Given the description of an element on the screen output the (x, y) to click on. 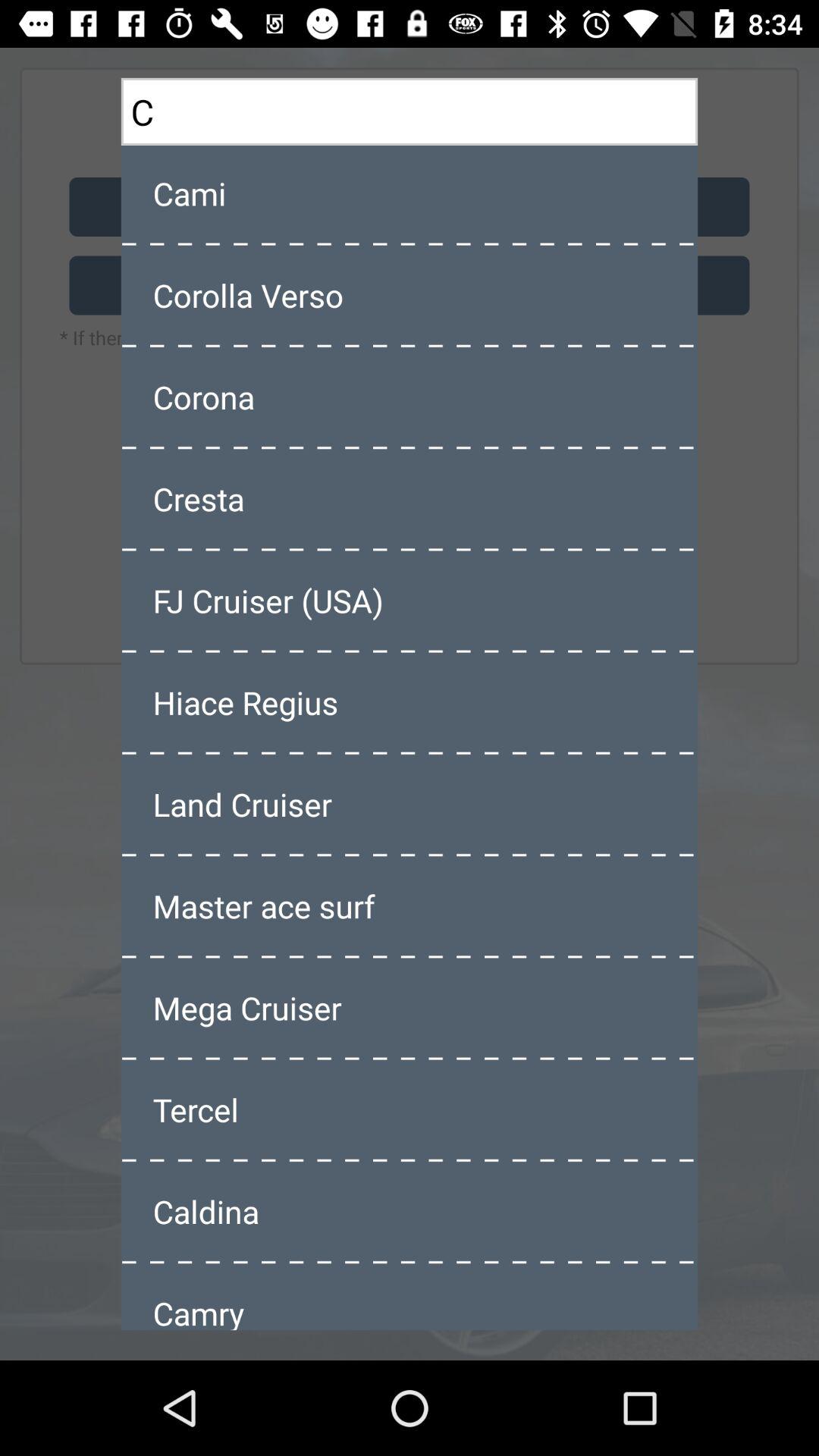
flip to cami (409, 193)
